Given the description of an element on the screen output the (x, y) to click on. 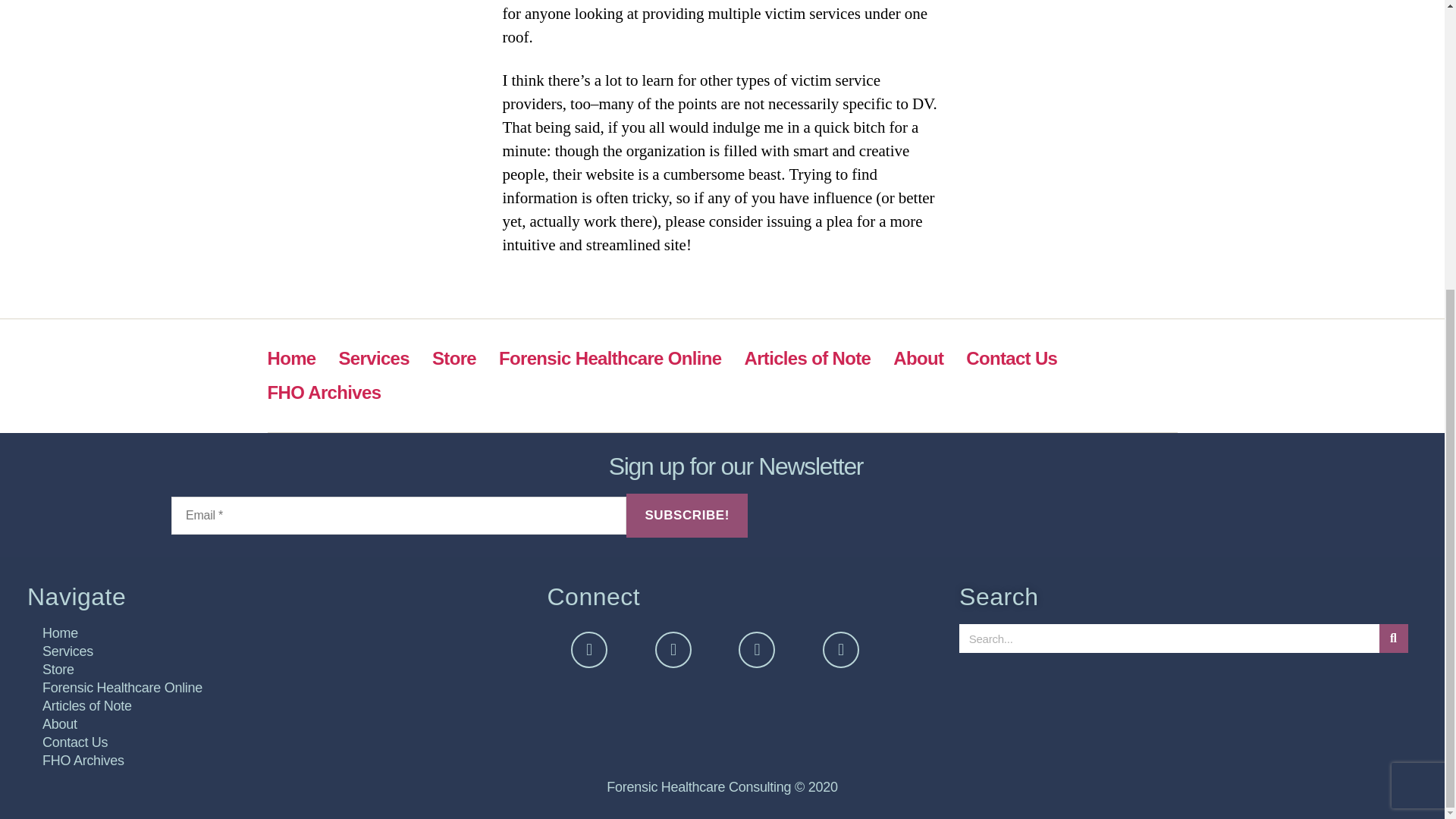
Subscribe! (687, 515)
Home (290, 358)
FHO Archives (323, 392)
Home (279, 633)
Contact Us (1011, 358)
Contact Us (279, 742)
Services (279, 651)
Subscribe! (687, 515)
Forensic Healthcare Online (279, 687)
About (279, 723)
